Given the description of an element on the screen output the (x, y) to click on. 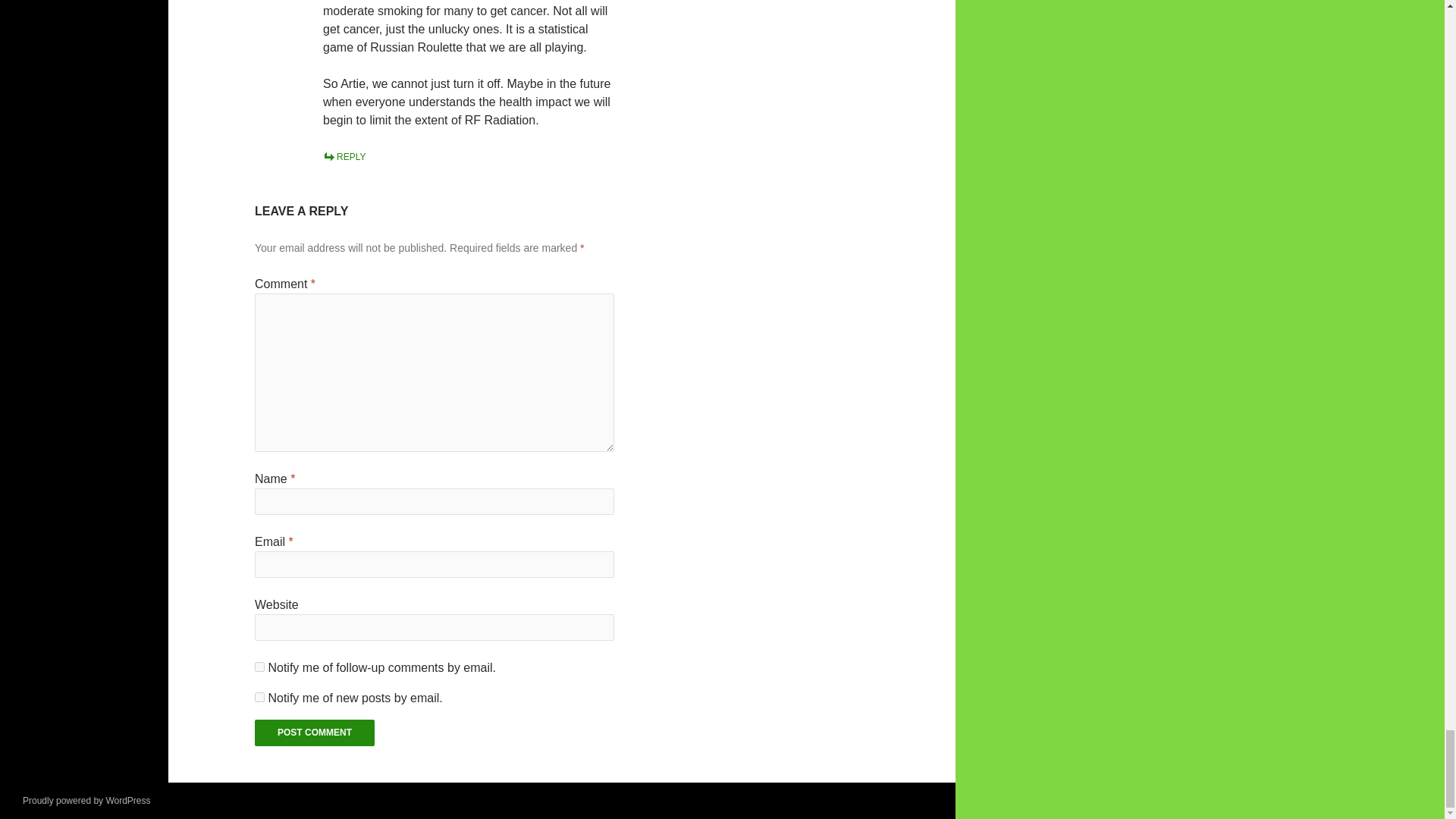
Post Comment (314, 732)
subscribe (259, 666)
subscribe (259, 696)
